Given the description of an element on the screen output the (x, y) to click on. 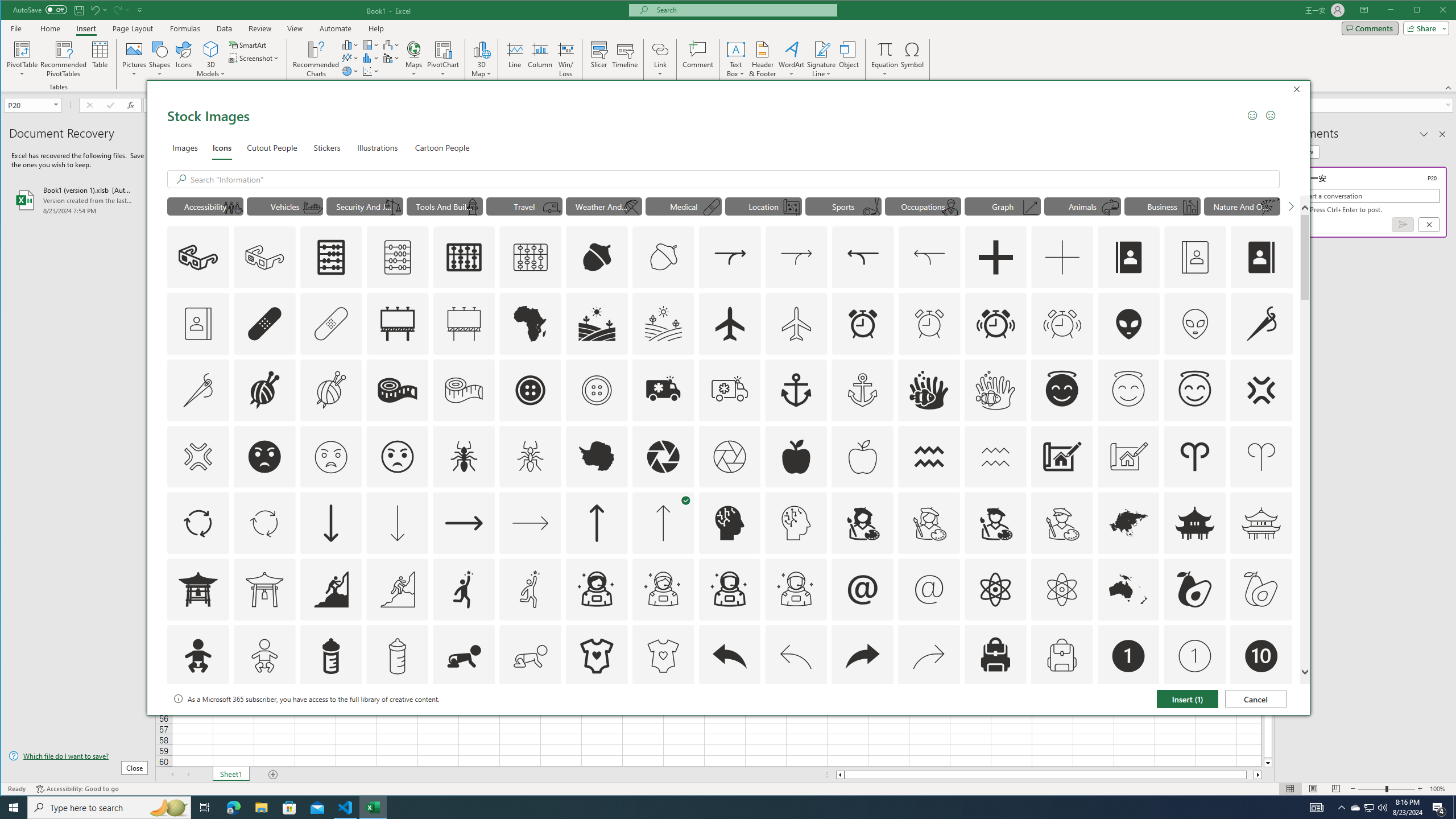
Send a Smile (1251, 115)
AutomationID: Icons_Agriculture_M (663, 323)
AutomationID: Icons_Apple_M (863, 456)
AutomationID: Icons_AlterationsTailoring3_M (596, 389)
AutomationID: Icons_BarGraphUpwardTrend_RTL_M (1190, 207)
AutomationID: Icons_Badge8_M (1128, 721)
WordArt (791, 59)
